Given the description of an element on the screen output the (x, y) to click on. 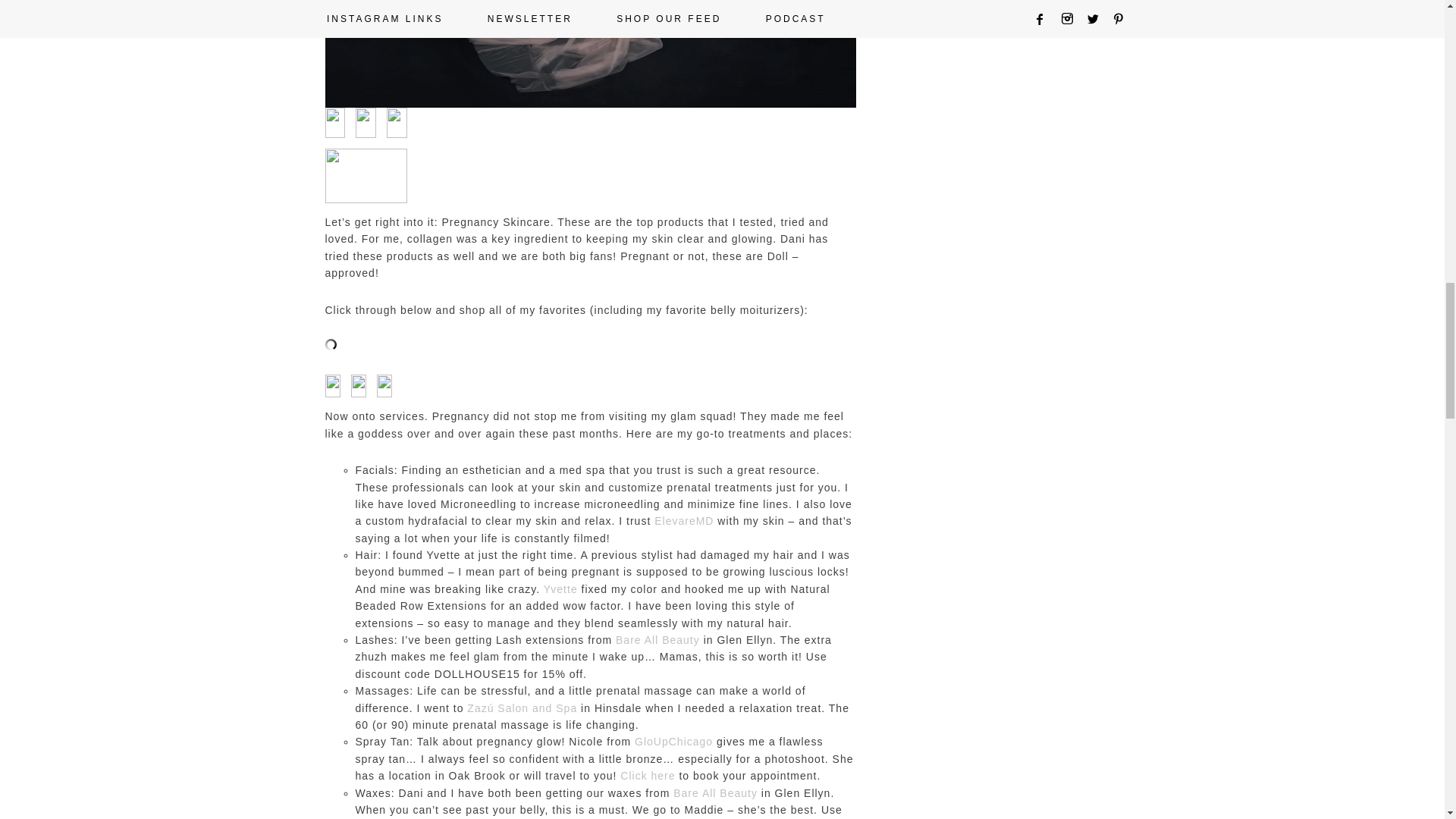
ElevareMD (683, 521)
